Given the description of an element on the screen output the (x, y) to click on. 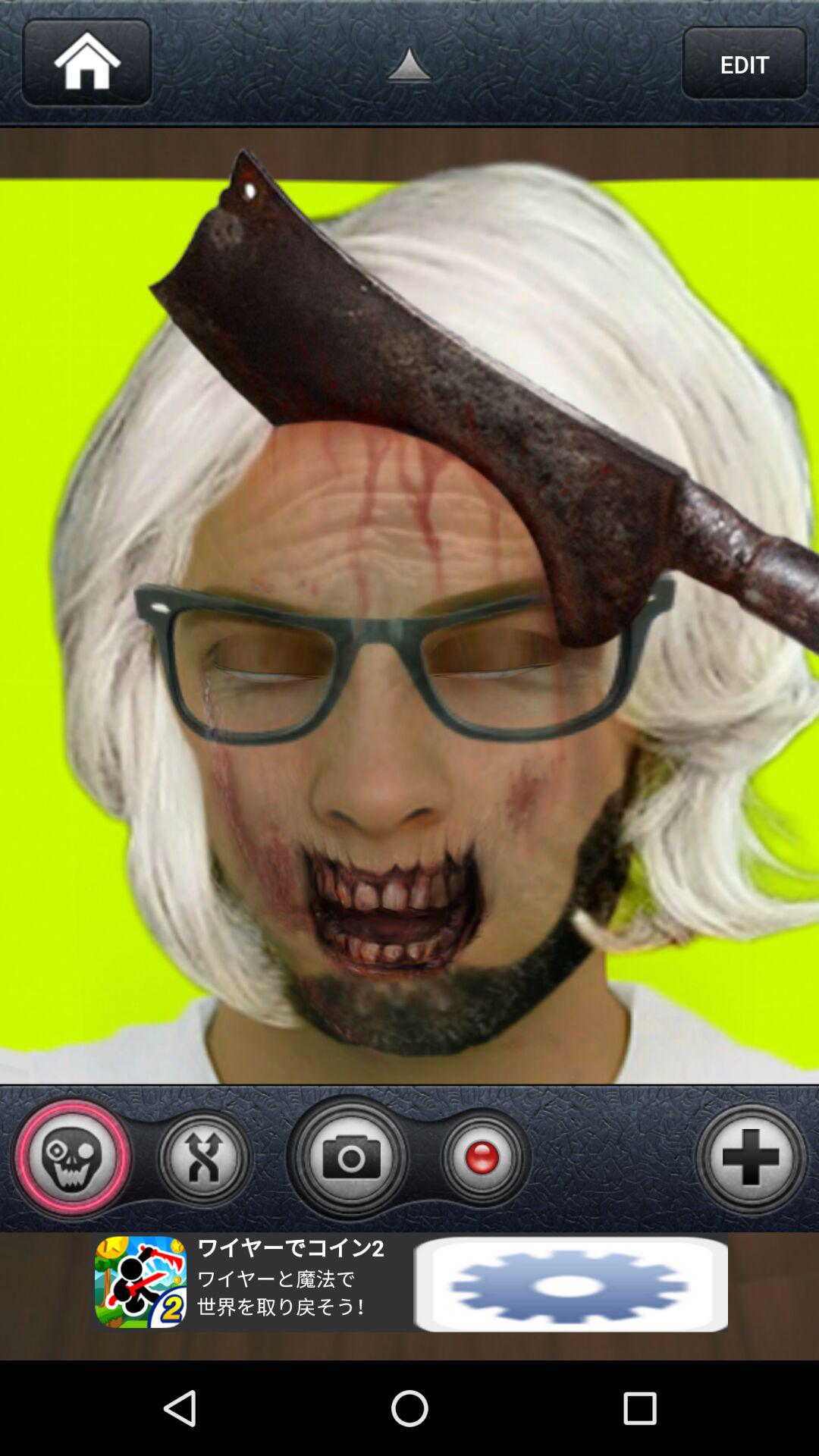
settings button (409, 1282)
